Given the description of an element on the screen output the (x, y) to click on. 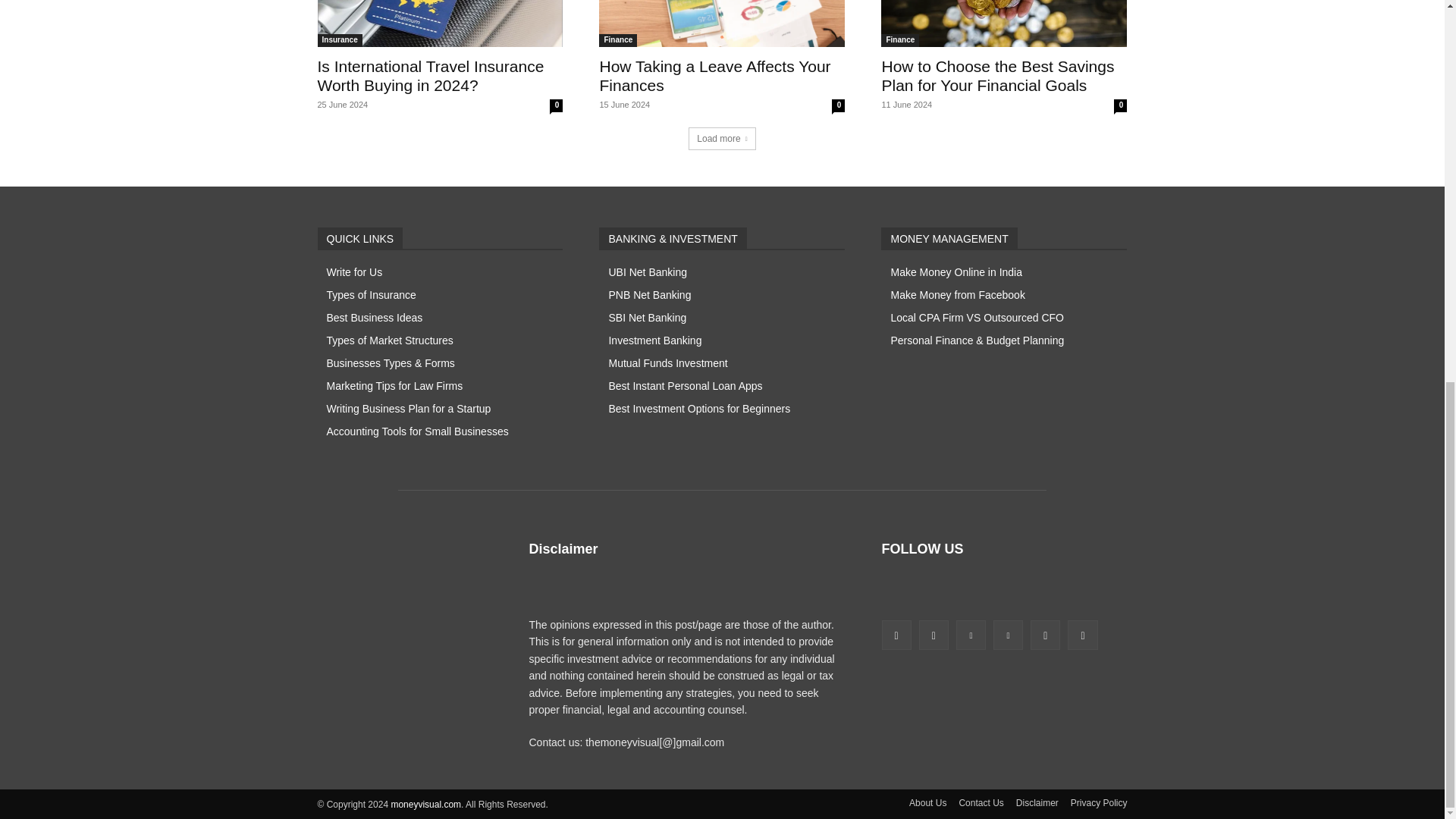
How Taking a Leave Affects Your Finances (721, 23)
Is International Travel Insurance Worth Buying in 2024? (439, 23)
How Taking a Leave Affects Your Finances (713, 75)
How to Choose the Best Savings Plan for Your Financial Goals (1003, 23)
Is International Travel Insurance Worth Buying in 2024? (430, 75)
